Given the description of an element on the screen output the (x, y) to click on. 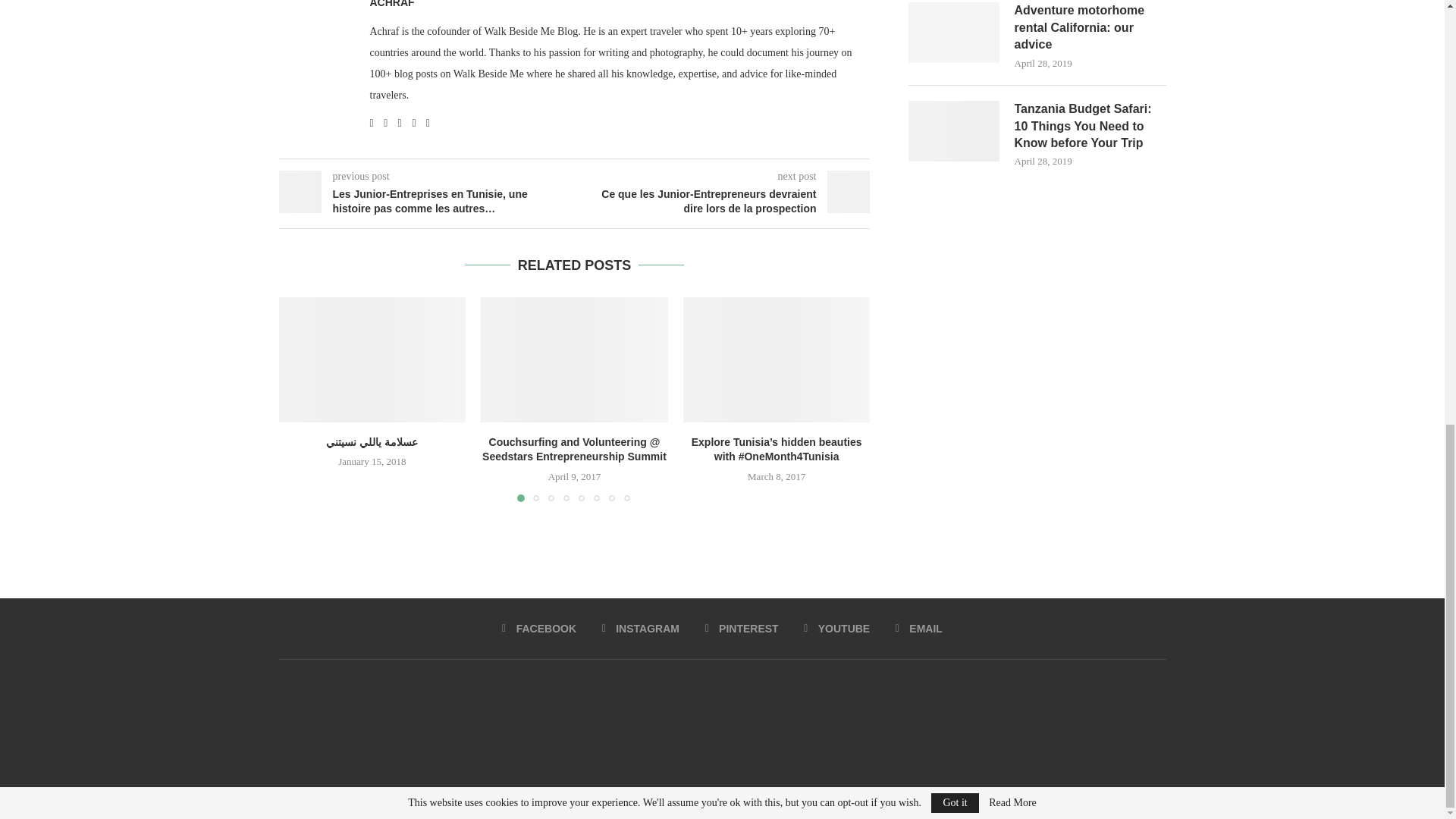
ACHRAF (391, 4)
Author Achraf (391, 4)
